Given the description of an element on the screen output the (x, y) to click on. 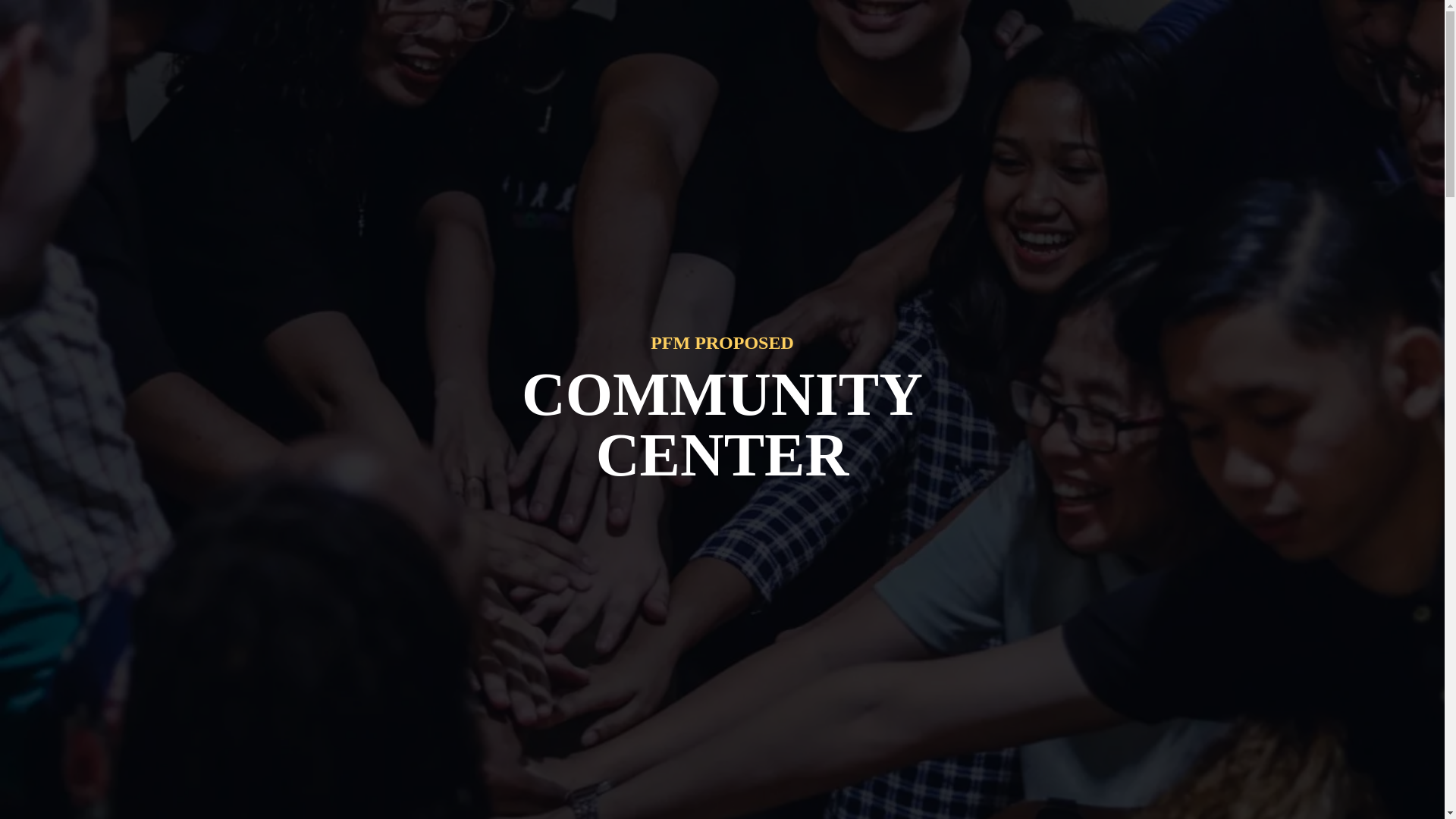
Show Your Support (1172, 40)
Learn more (209, 584)
